Given the description of an element on the screen output the (x, y) to click on. 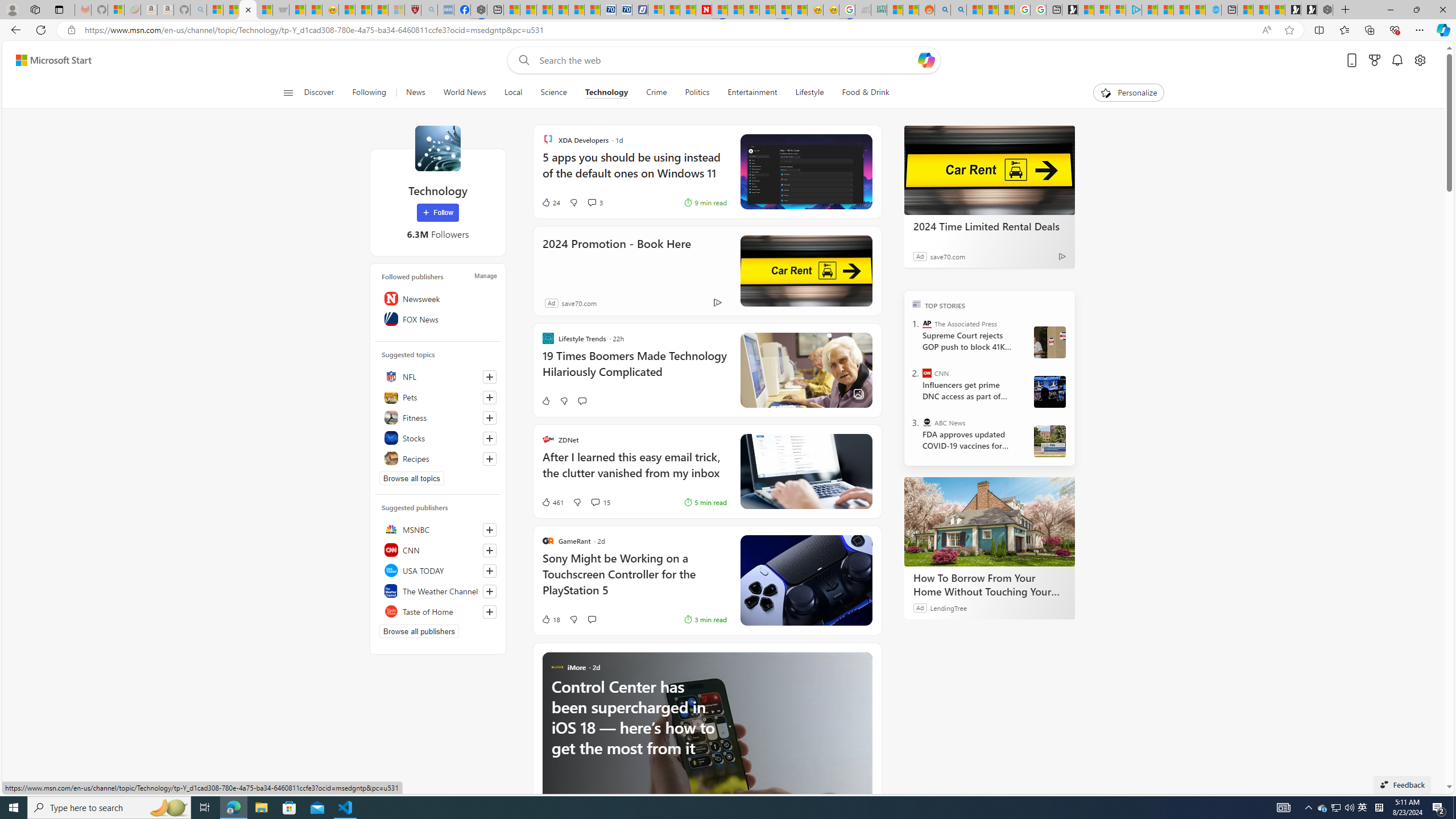
19 Times Boomers Made Technology Hilariously Complicated (633, 369)
18 Like (549, 619)
Browse all publishers (419, 631)
